Given the description of an element on the screen output the (x, y) to click on. 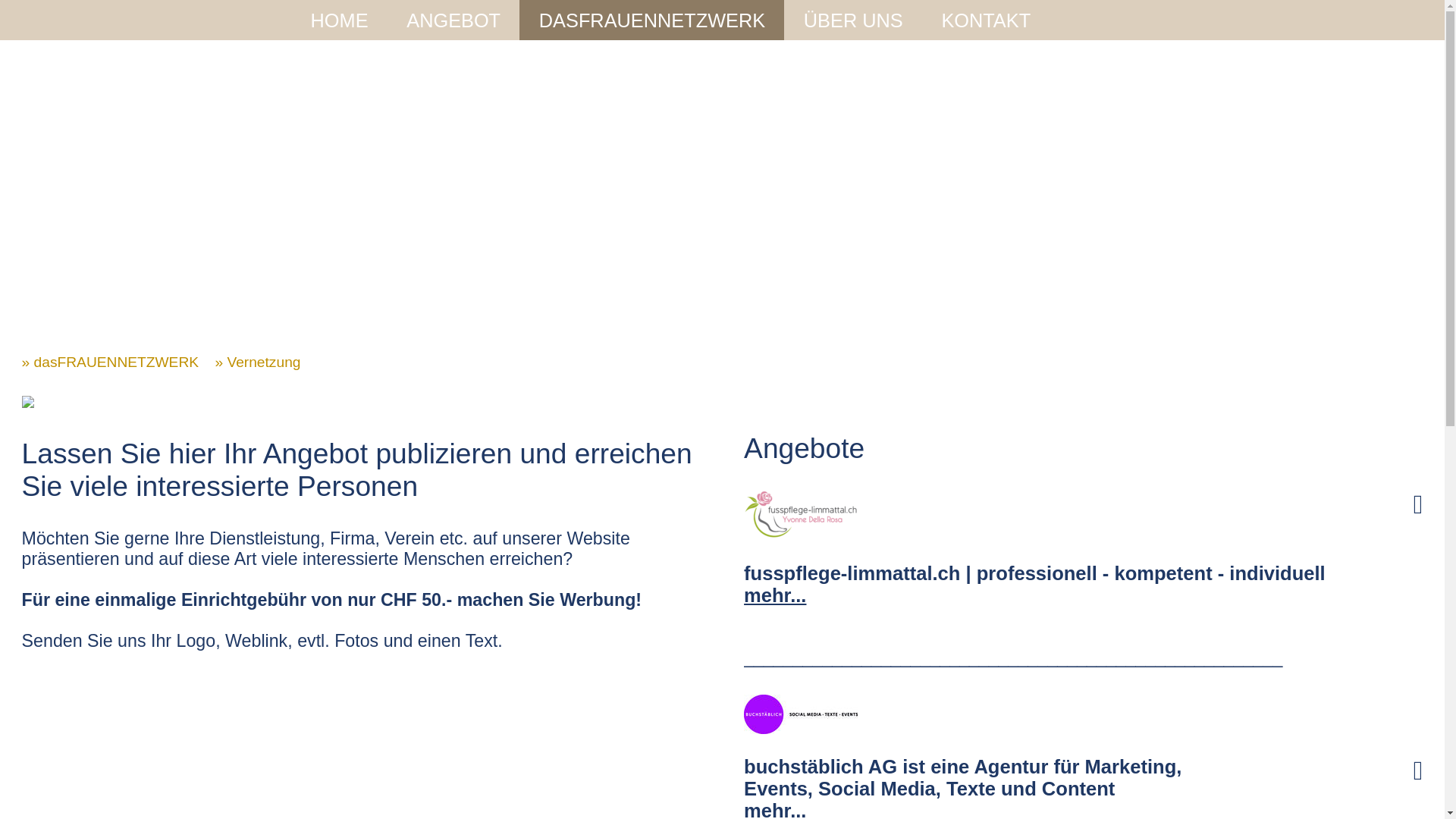
KONTAKT Element type: text (985, 20)
DASFRAUENNETZWERK Element type: text (652, 20)
Anmelden Element type: text (707, 233)
ANGEBOT Element type: text (453, 20)
HOME Element type: text (339, 20)
